Given the description of an element on the screen output the (x, y) to click on. 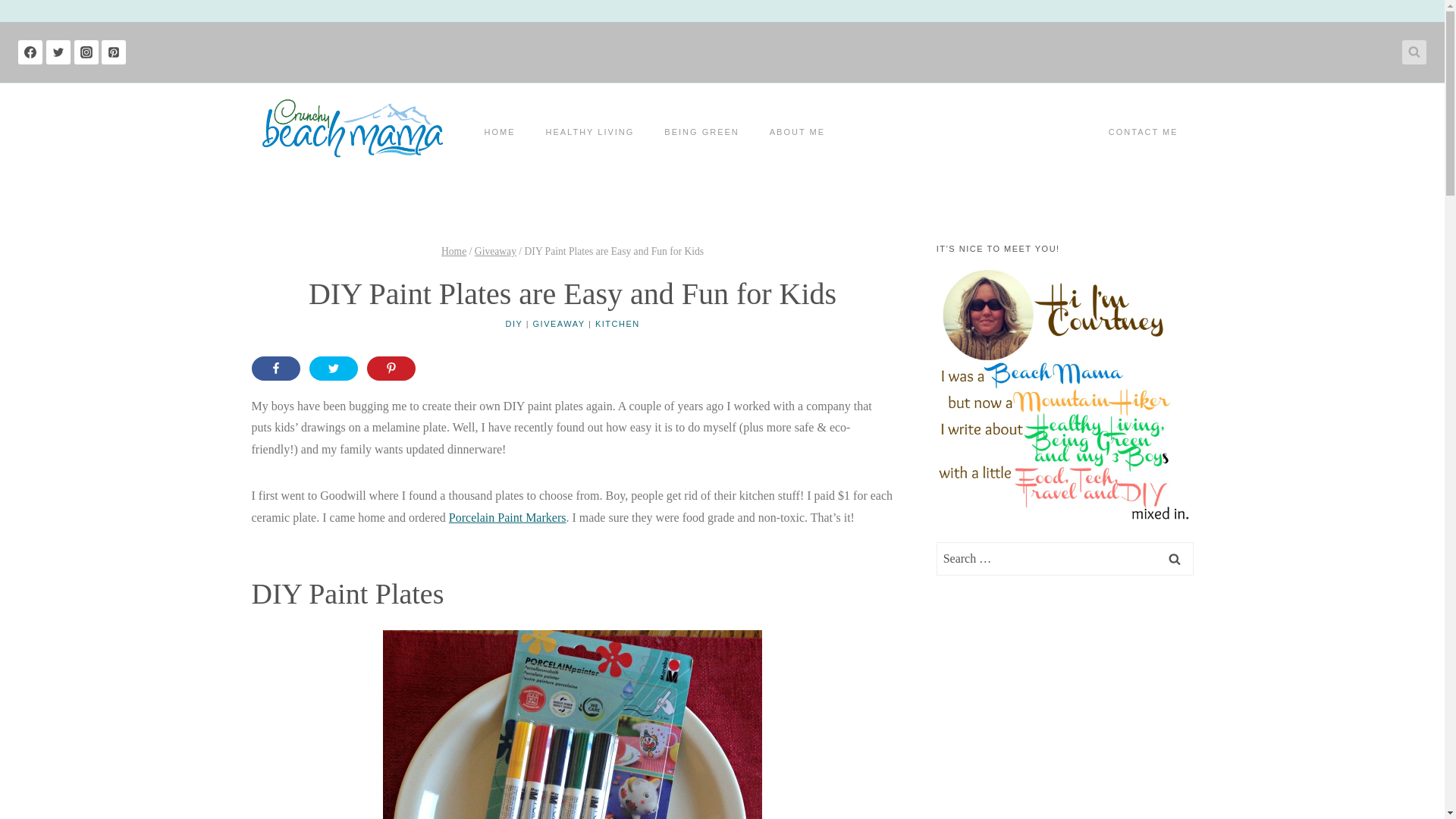
Share on Pinterest (390, 368)
Search (1174, 558)
CONTACT ME (1143, 131)
KITCHEN (617, 323)
ABOUT ME (797, 131)
DIY (513, 323)
HOME (498, 131)
Giveaway (495, 251)
HEALTHY LIVING (590, 131)
Search (1174, 558)
